Given the description of an element on the screen output the (x, y) to click on. 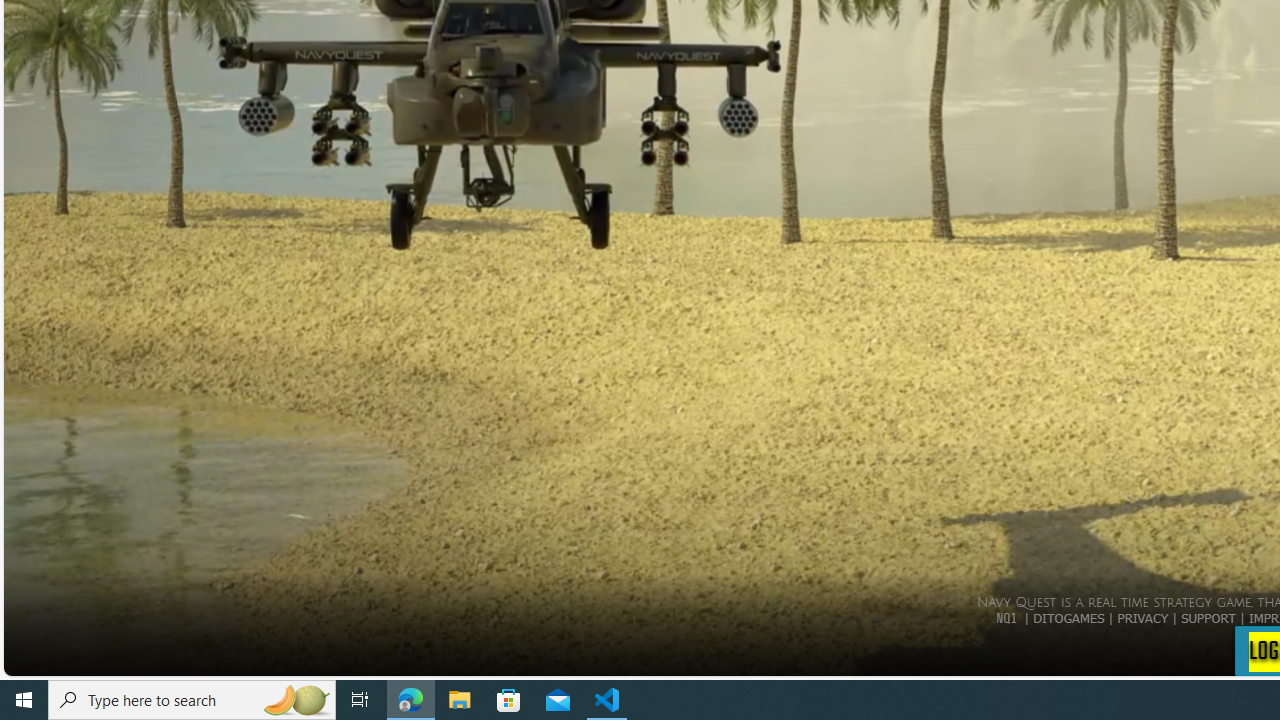
Search highlights icon opens search home window (295, 699)
SUPPORT (1208, 617)
Start (24, 699)
Task View (359, 699)
Microsoft Edge - 1 running window (411, 699)
Visual Studio Code - 1 running window (607, 699)
Type here to search (191, 699)
Microsoft Store (509, 699)
PRIVACY (1142, 617)
File Explorer (460, 699)
